Given the description of an element on the screen output the (x, y) to click on. 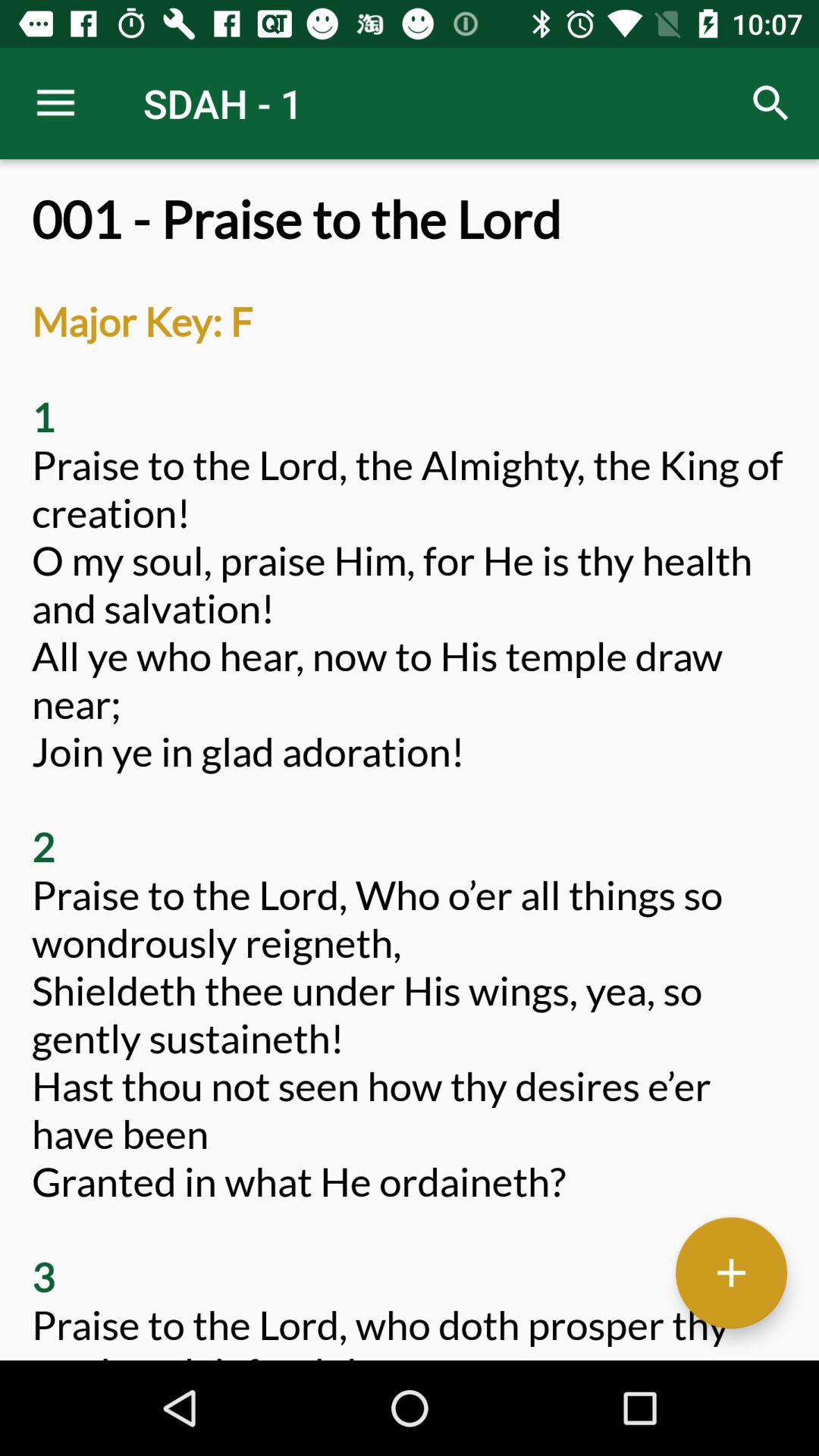
open the item next to the sdah - 1 item (55, 103)
